Given the description of an element on the screen output the (x, y) to click on. 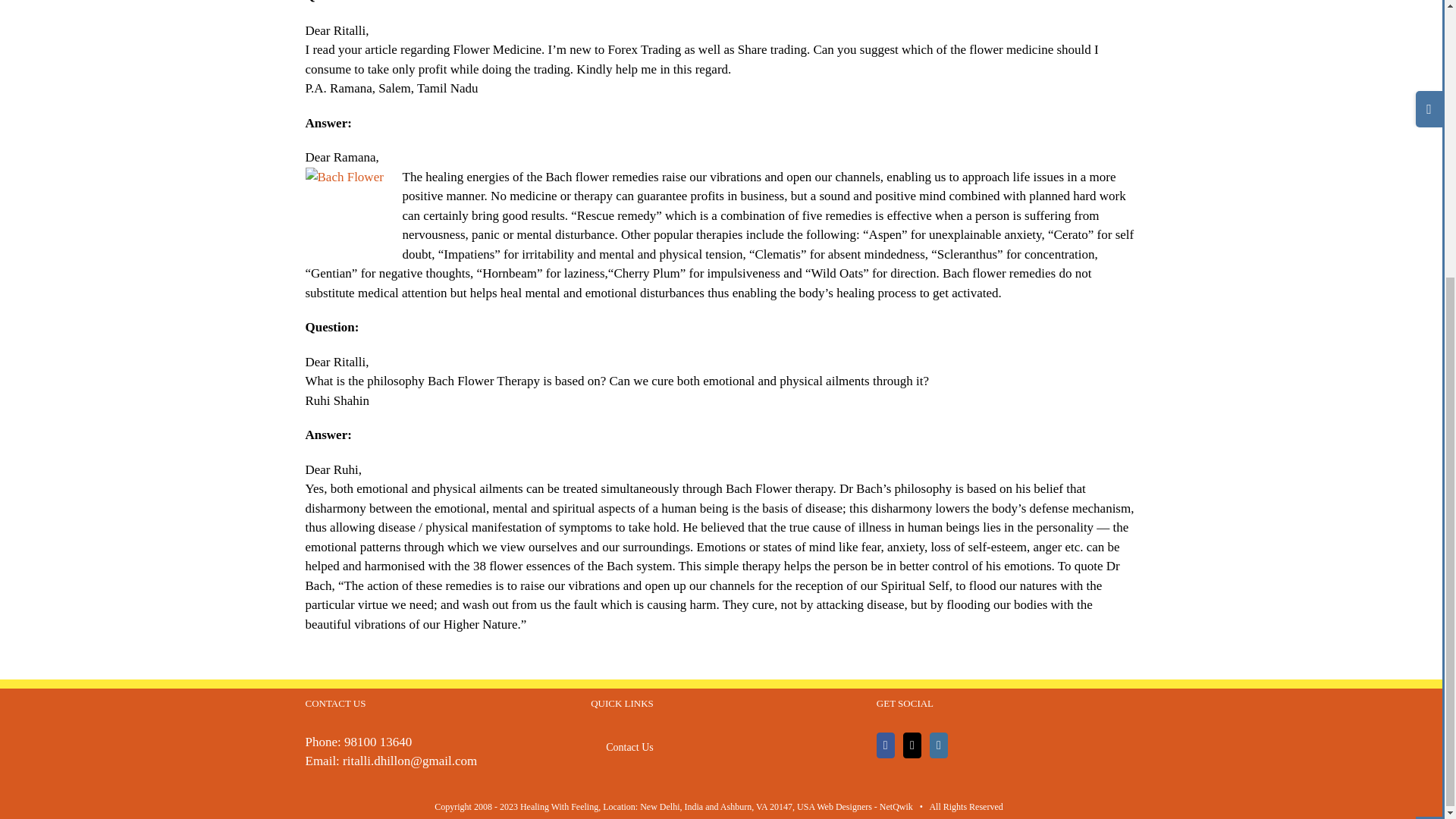
Web Designers - NetQwik (862, 806)
Contact Us (722, 747)
